Given the description of an element on the screen output the (x, y) to click on. 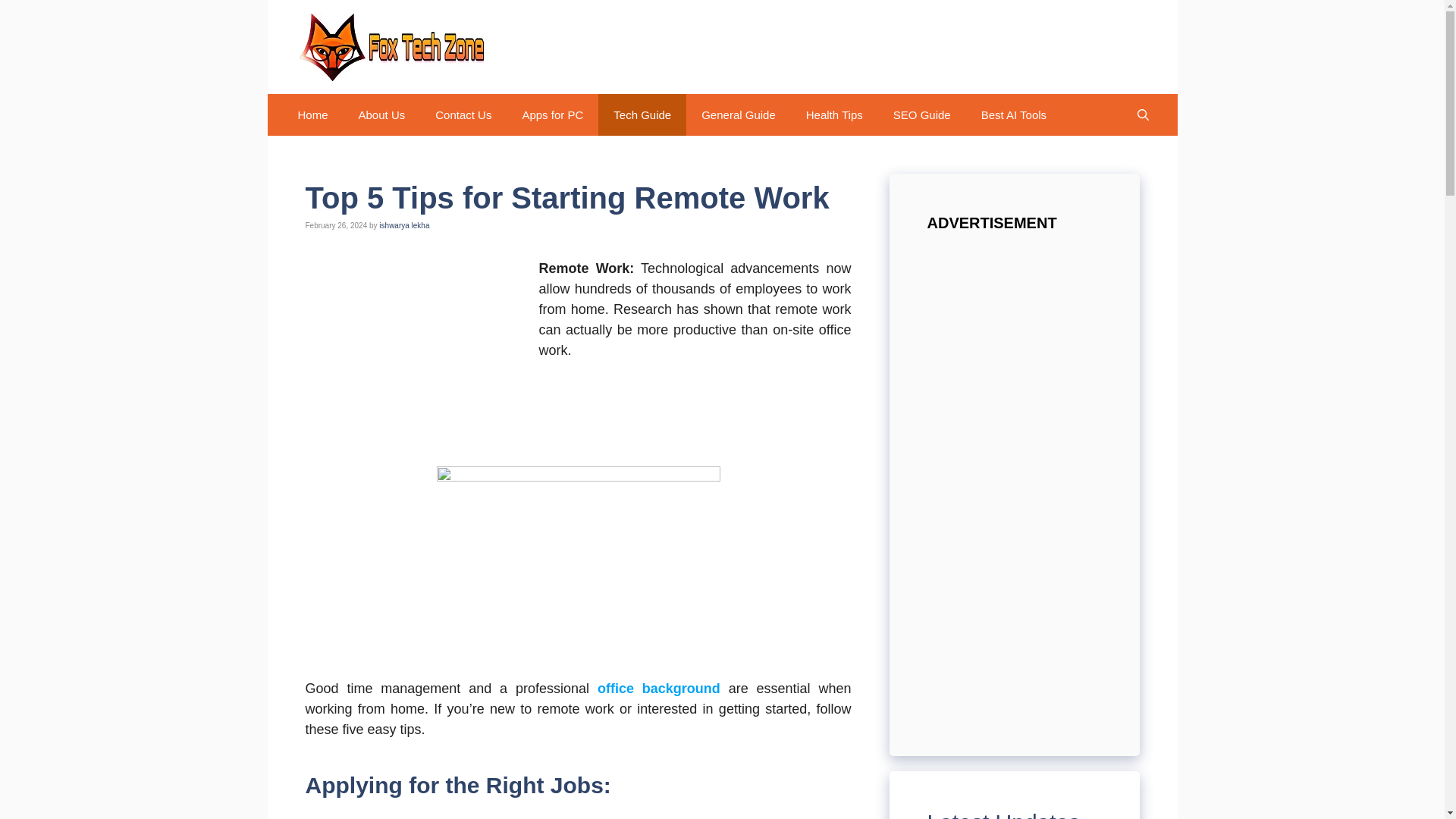
office background (658, 688)
General Guide (737, 114)
ishwarya lekha (403, 225)
Home (312, 114)
Apps for PC (552, 114)
Best AI Tools (1013, 114)
Tech Guide (641, 114)
SEO Guide (921, 114)
Contact Us (463, 114)
Health Tips (833, 114)
About Us (381, 114)
View all posts by ishwarya lekha (403, 225)
